Given the description of an element on the screen output the (x, y) to click on. 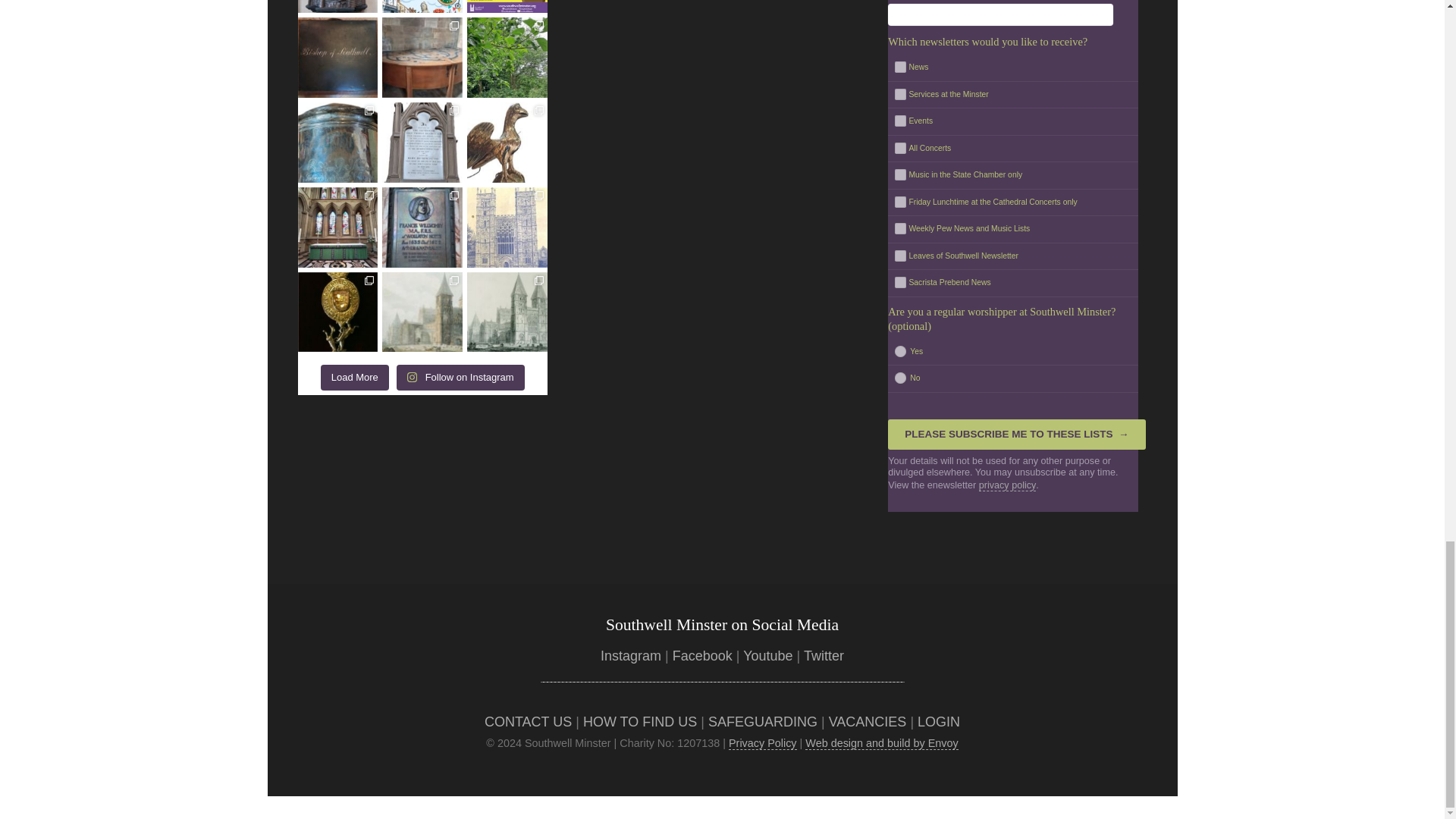
512 (899, 255)
1 (899, 66)
32 (899, 377)
2 (899, 147)
64 (899, 201)
16 (899, 349)
1024 (899, 281)
256 (899, 227)
128 (899, 93)
8 (899, 173)
